Given the description of an element on the screen output the (x, y) to click on. 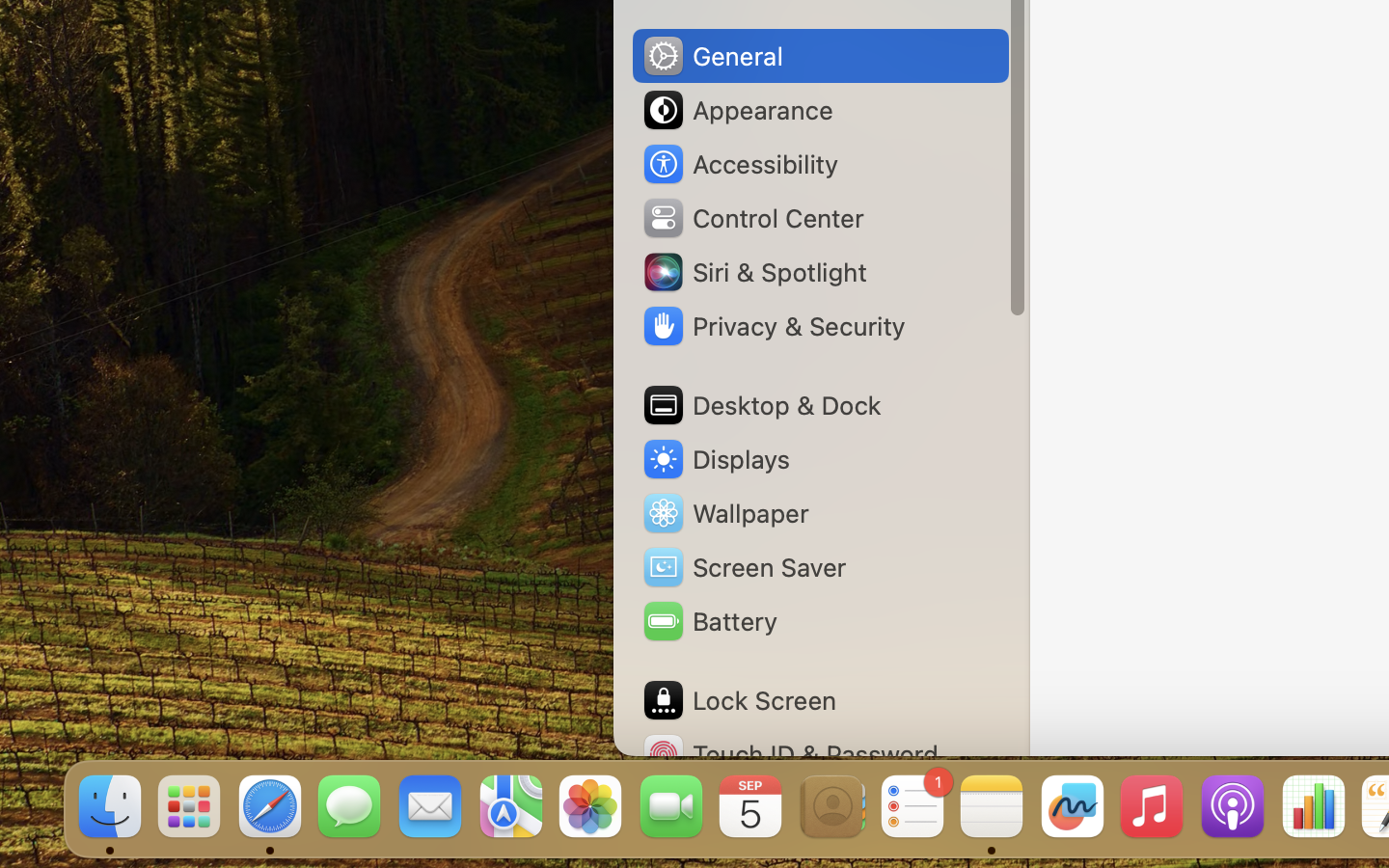
Displays Element type: AXStaticText (715, 458)
Desktop & Dock Element type: AXStaticText (760, 404)
Touch ID & Password Element type: AXStaticText (789, 754)
Appearance Element type: AXStaticText (736, 109)
Wallpaper Element type: AXStaticText (724, 512)
